Given the description of an element on the screen output the (x, y) to click on. 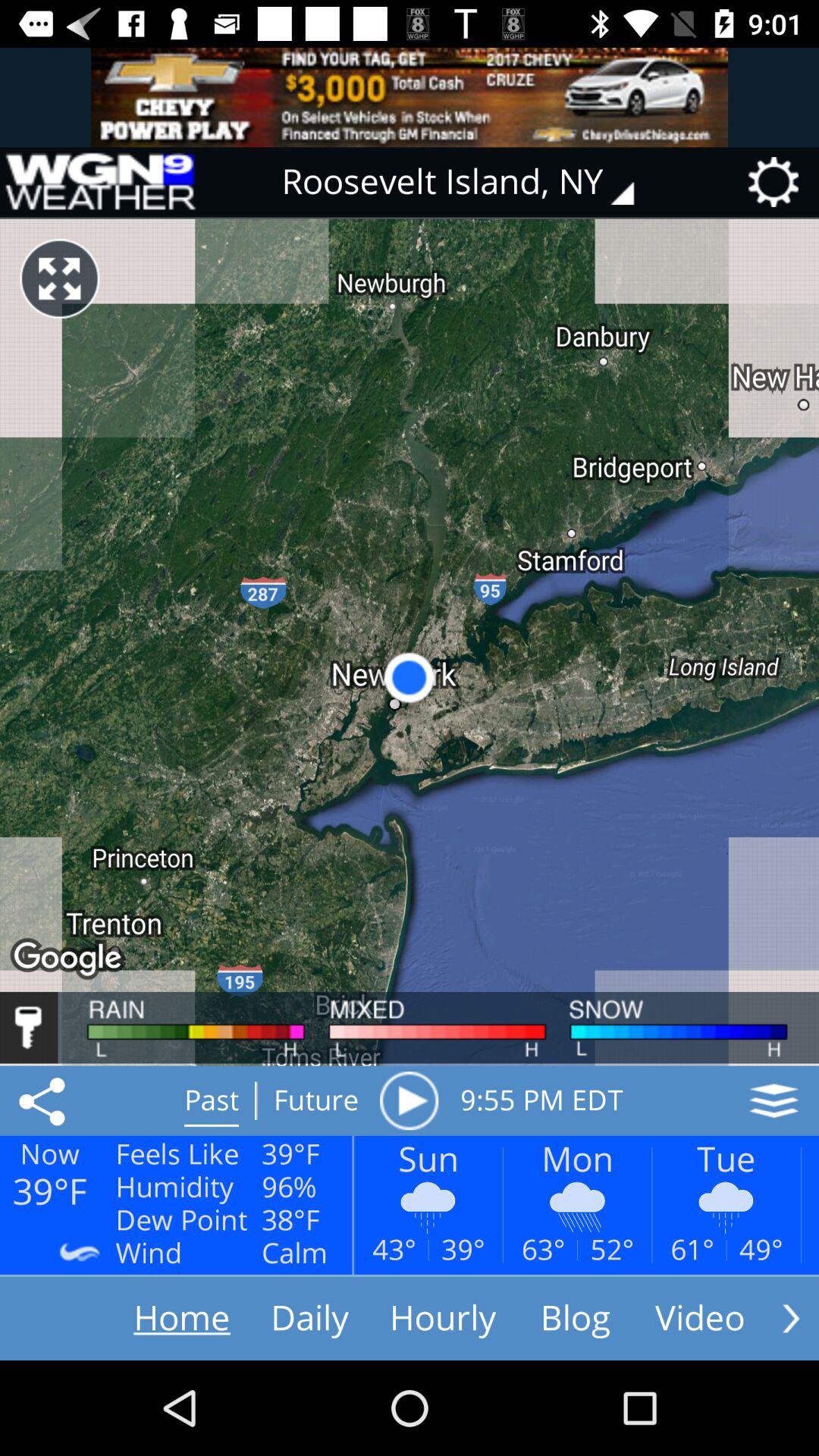
share with others (44, 1100)
